Given the description of an element on the screen output the (x, y) to click on. 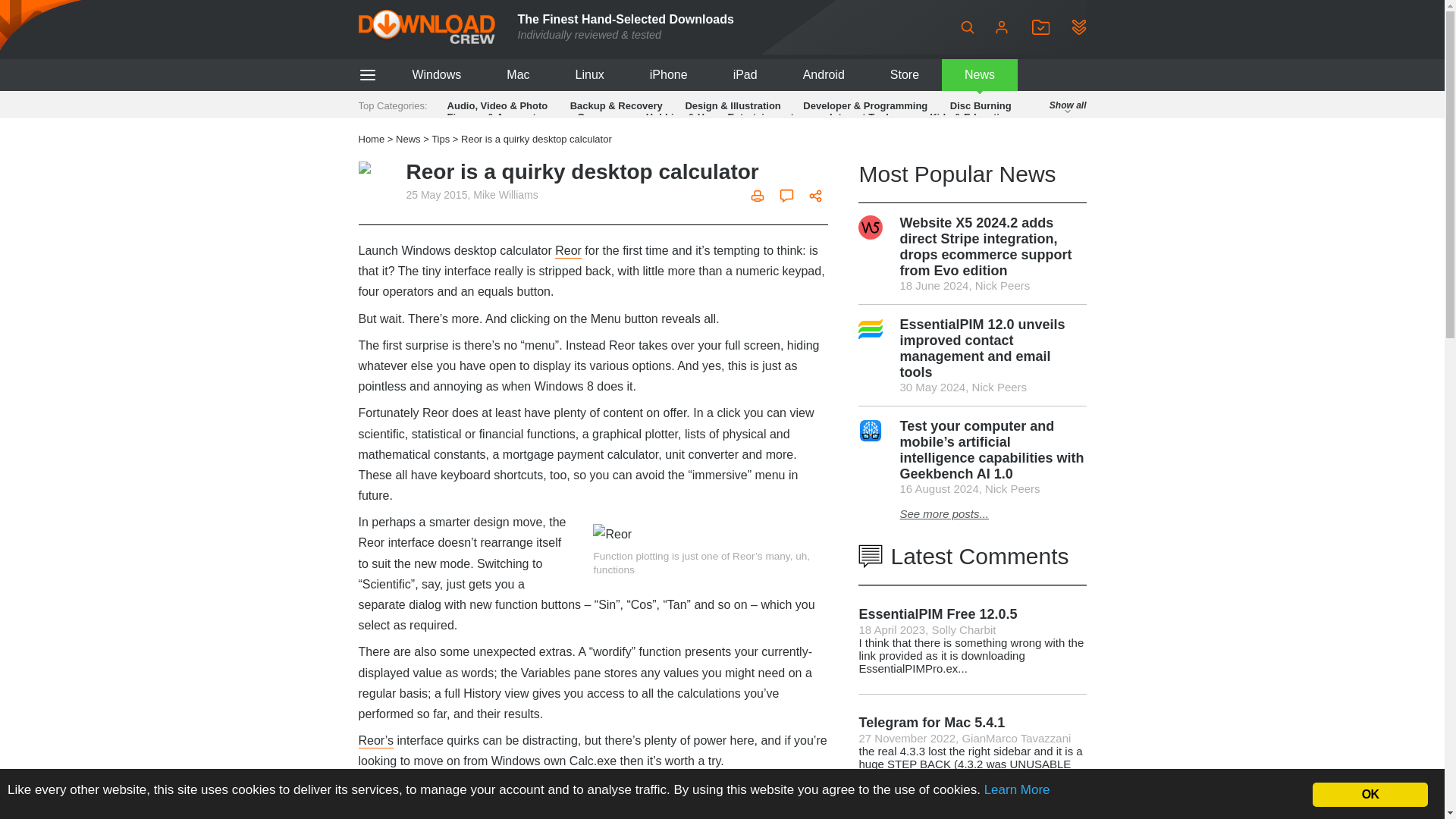
Downloadcrew - Home (426, 26)
Disc Burning (980, 105)
Internet Tools (861, 116)
Android (823, 74)
Mac (517, 74)
Linux (590, 74)
iPad (745, 74)
Windows (435, 74)
iPhone (668, 74)
Games (593, 116)
